Given the description of an element on the screen output the (x, y) to click on. 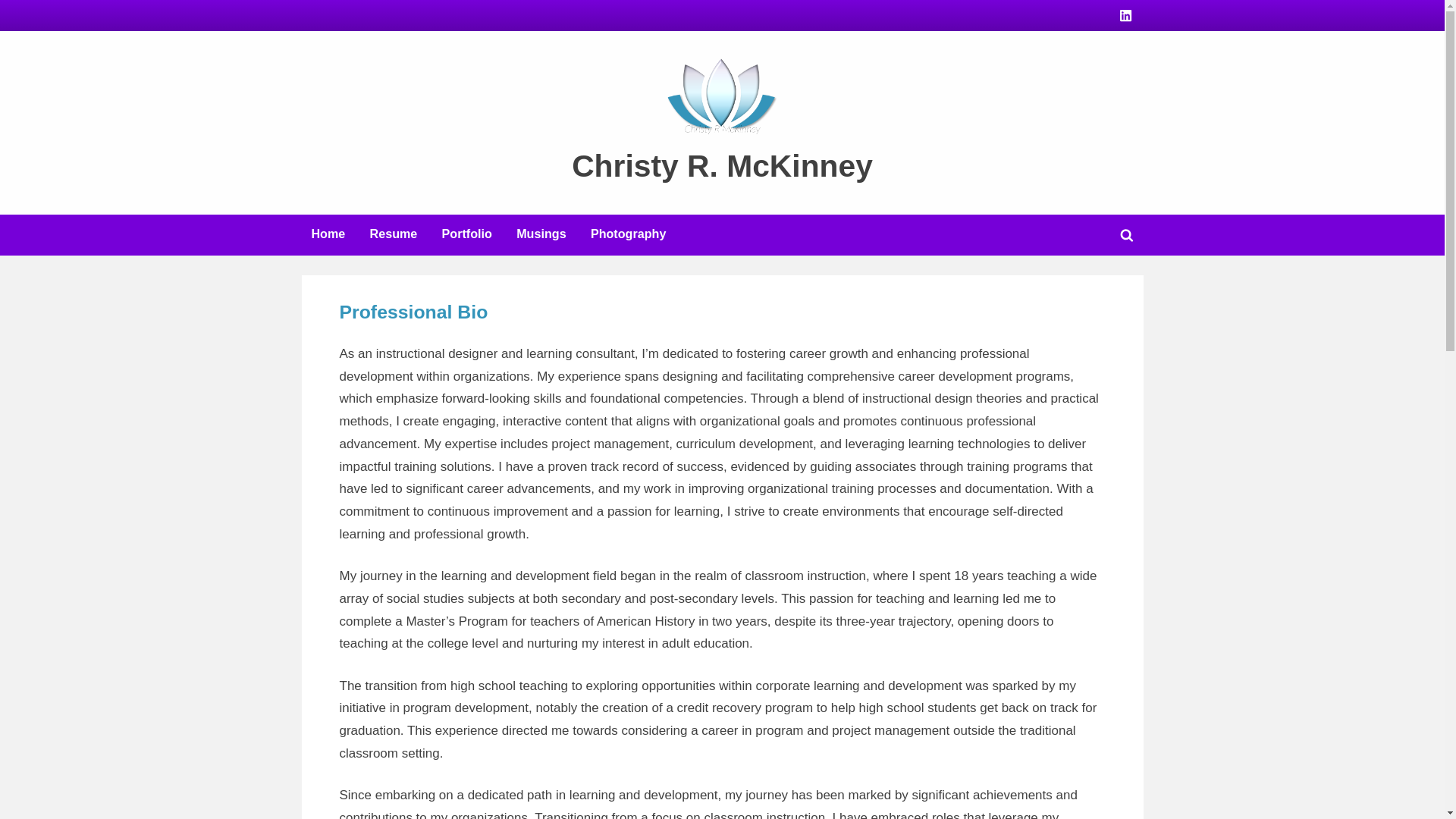
Portfolio (467, 235)
LinkedIn (1125, 14)
Christy R. McKinney (722, 165)
Toggle search form (1126, 234)
Resume (393, 235)
Photography (627, 235)
Home (328, 235)
Musings (540, 235)
